Given the description of an element on the screen output the (x, y) to click on. 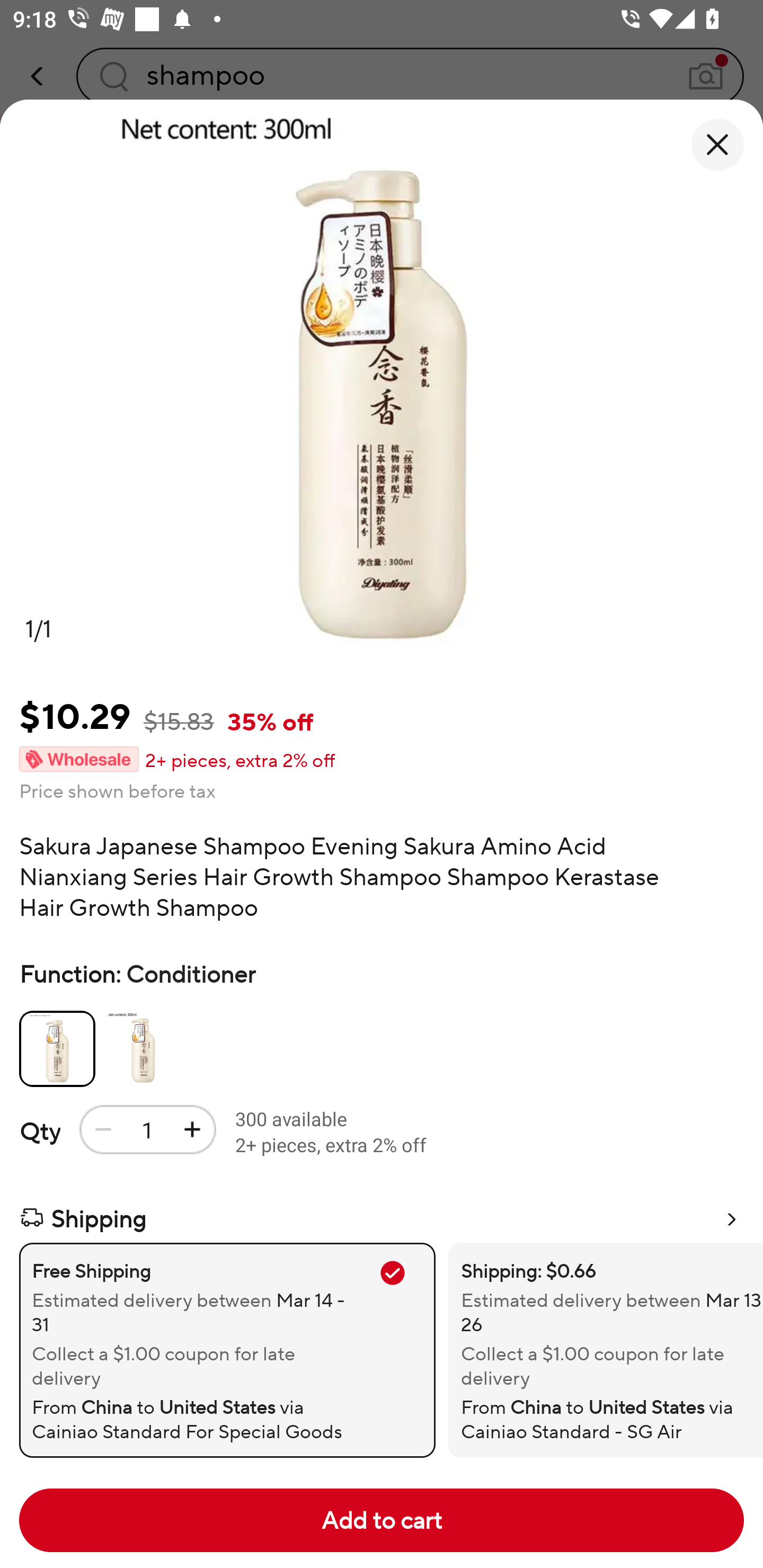
close  (717, 144)
Add to cart (381, 1520)
